Given the description of an element on the screen output the (x, y) to click on. 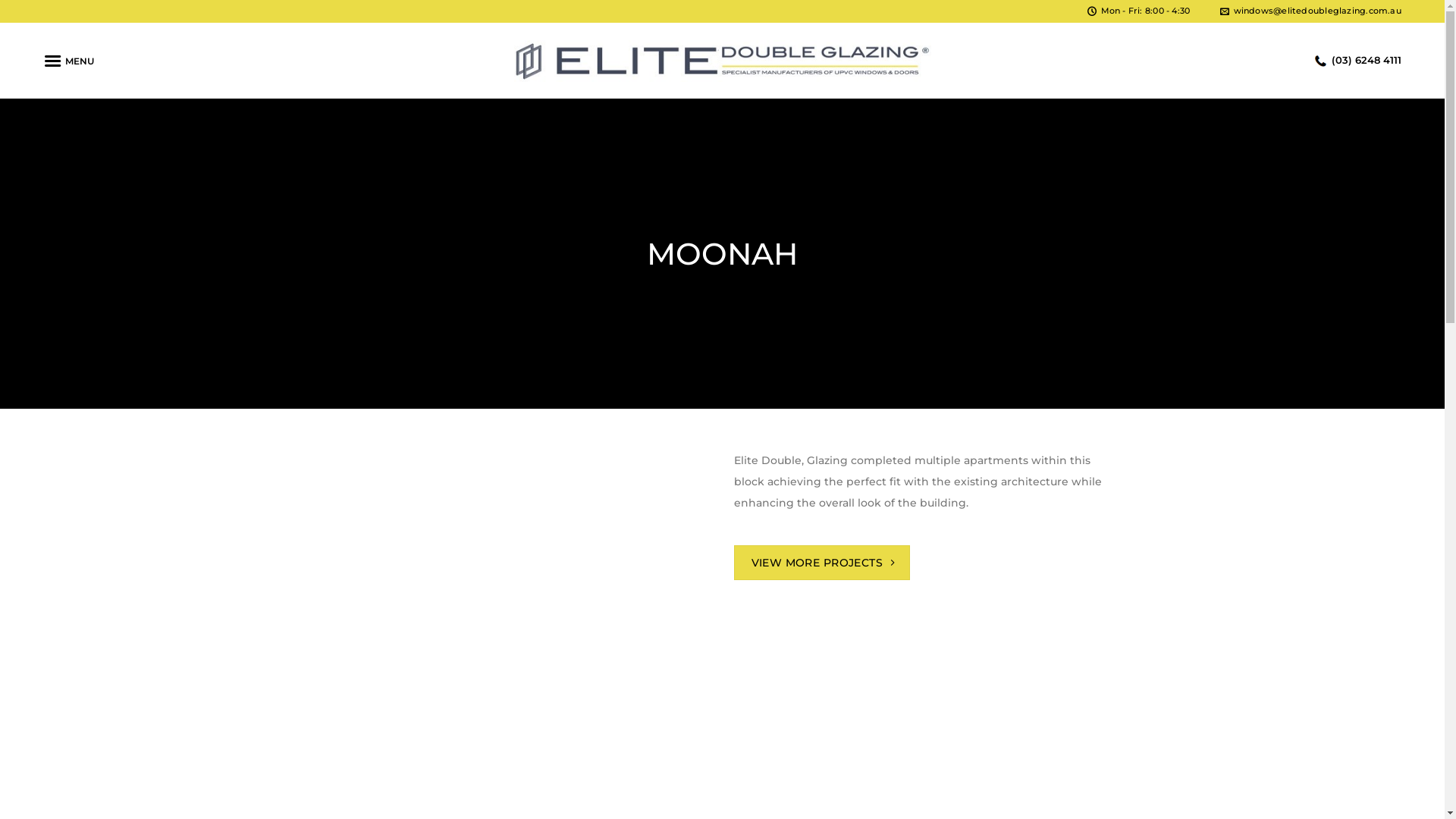
windows@elitedoubleglazing.com.au Element type: text (1310, 10)
(03) 6248 4111 Element type: text (1357, 59)
MENU Element type: text (68, 60)
Mon - Fri: 8:00 - 4:30 Element type: text (1138, 10)
VIEW MORE PROJECTS Element type: text (822, 562)
